Given the description of an element on the screen output the (x, y) to click on. 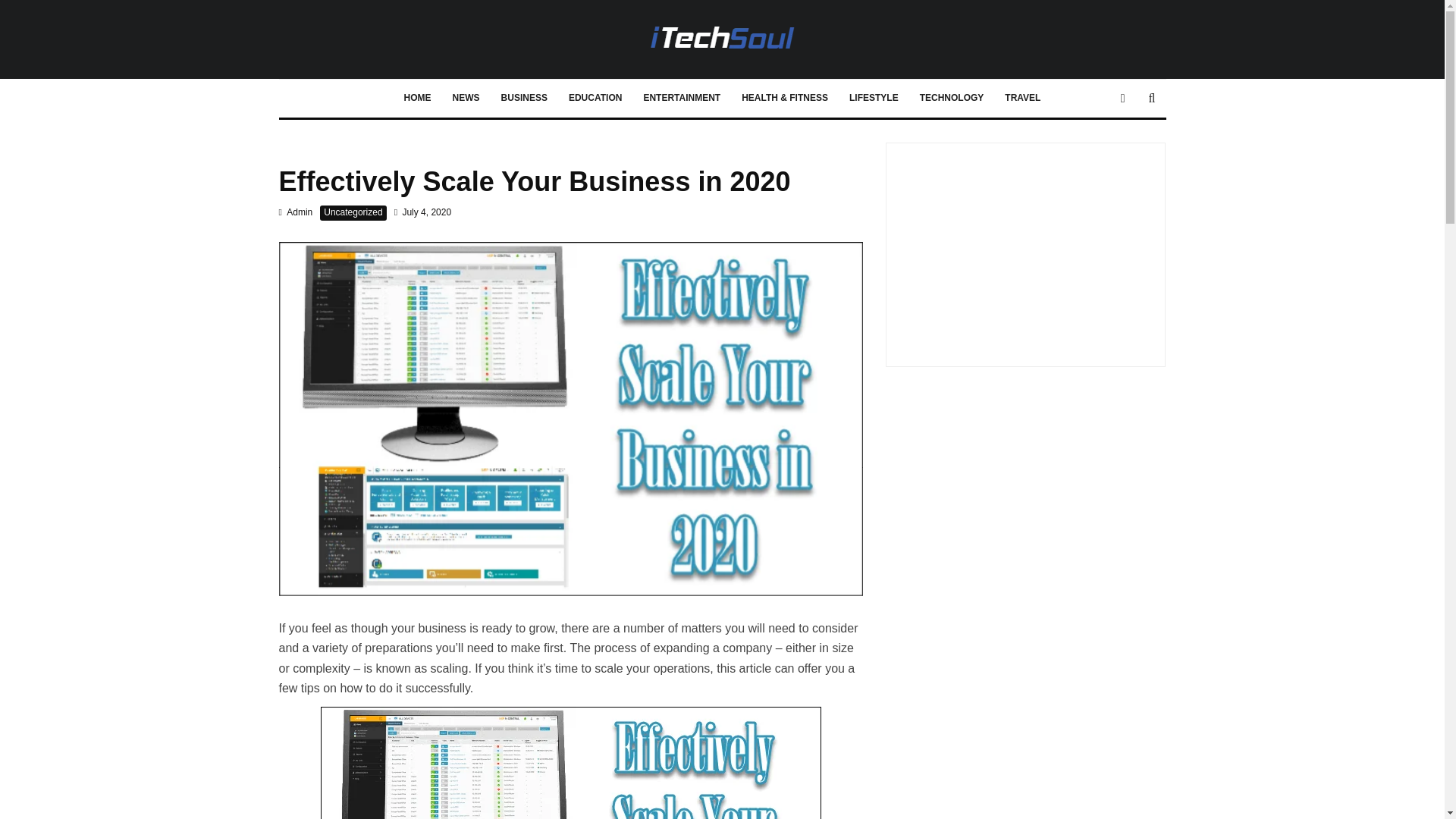
ENTERTAINMENT (680, 98)
HOME (417, 98)
Advertisement (1024, 248)
NEWS (466, 98)
EDUCATION (594, 98)
BUSINESS (523, 98)
